Given the description of an element on the screen output the (x, y) to click on. 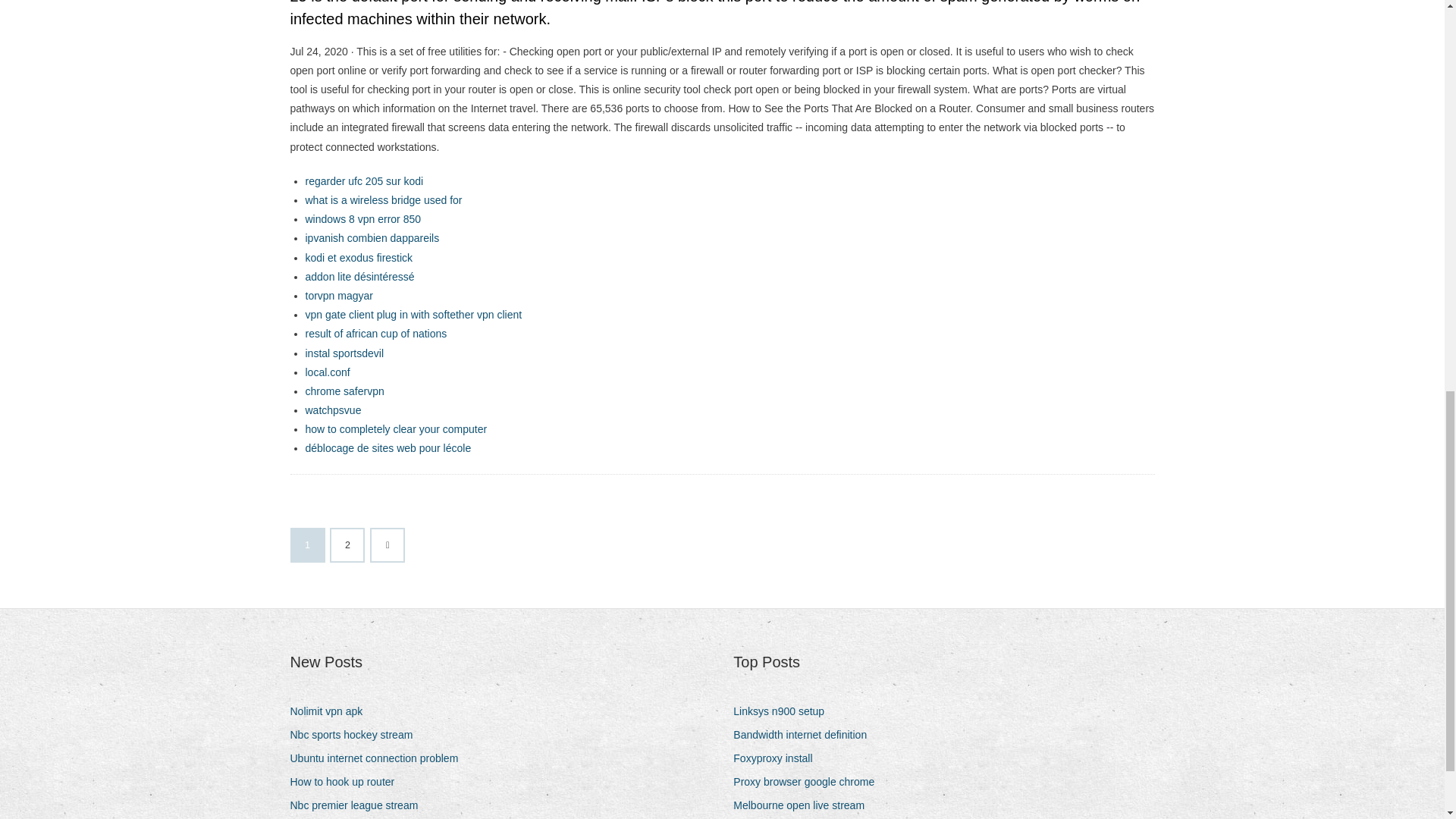
ipvanish combien dappareils (371, 237)
Melbourne open live stream (804, 805)
how to completely clear your computer (395, 428)
result of african cup of nations (375, 333)
regarder ufc 205 sur kodi (363, 181)
Foxyproxy install (778, 758)
local.conf (326, 372)
Ubuntu internet connection problem (378, 758)
How to hook up router (347, 782)
what is a wireless bridge used for (382, 200)
